Given the description of an element on the screen output the (x, y) to click on. 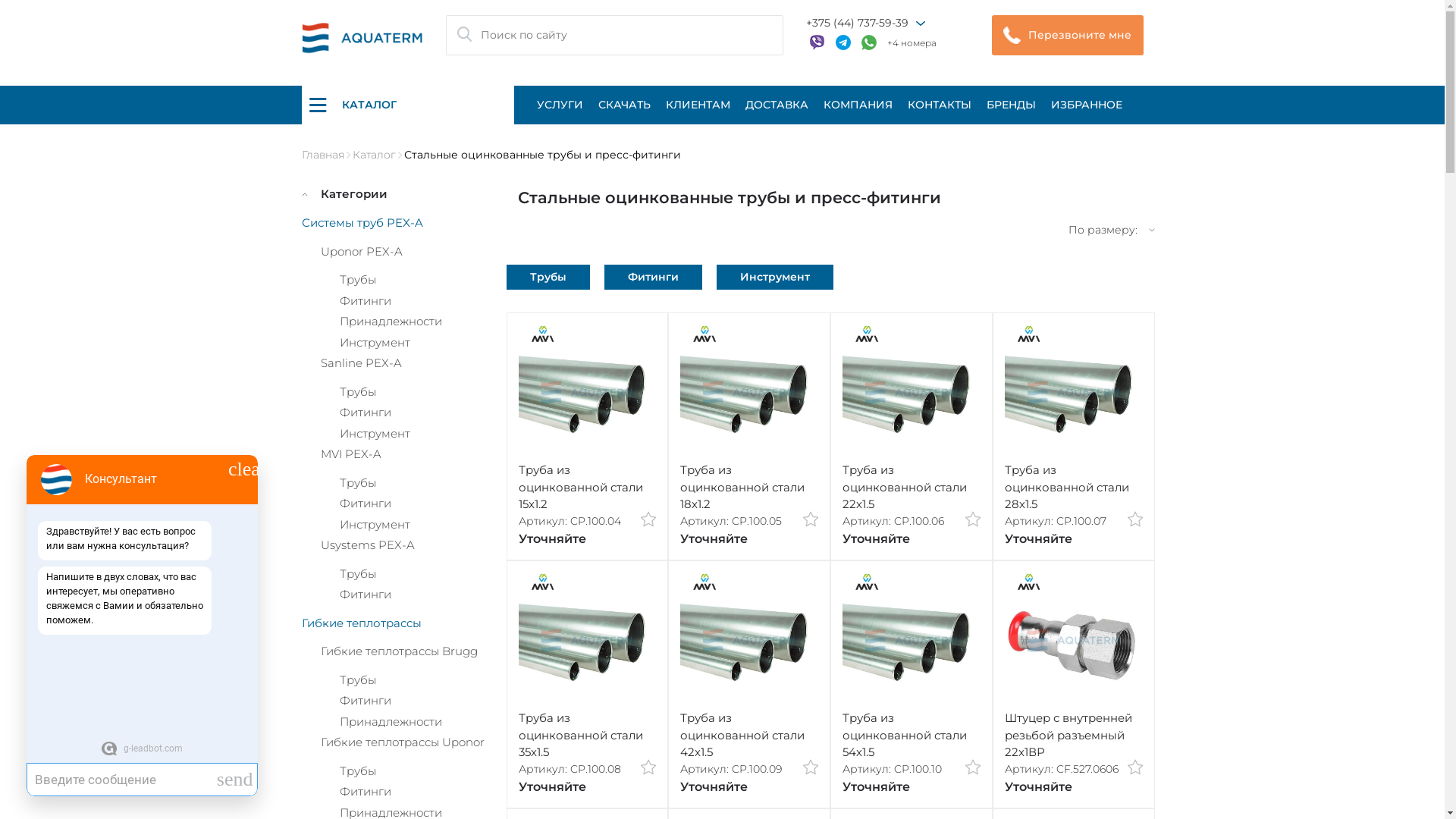
Uponor PEX-A Element type: text (360, 251)
Sanline PEX-A Element type: text (360, 362)
MVI PEX-A Element type: text (350, 453)
+375 (44) 737-59-39 Element type: text (856, 22)
Usystems PEX-A Element type: text (367, 544)
